Given the description of an element on the screen output the (x, y) to click on. 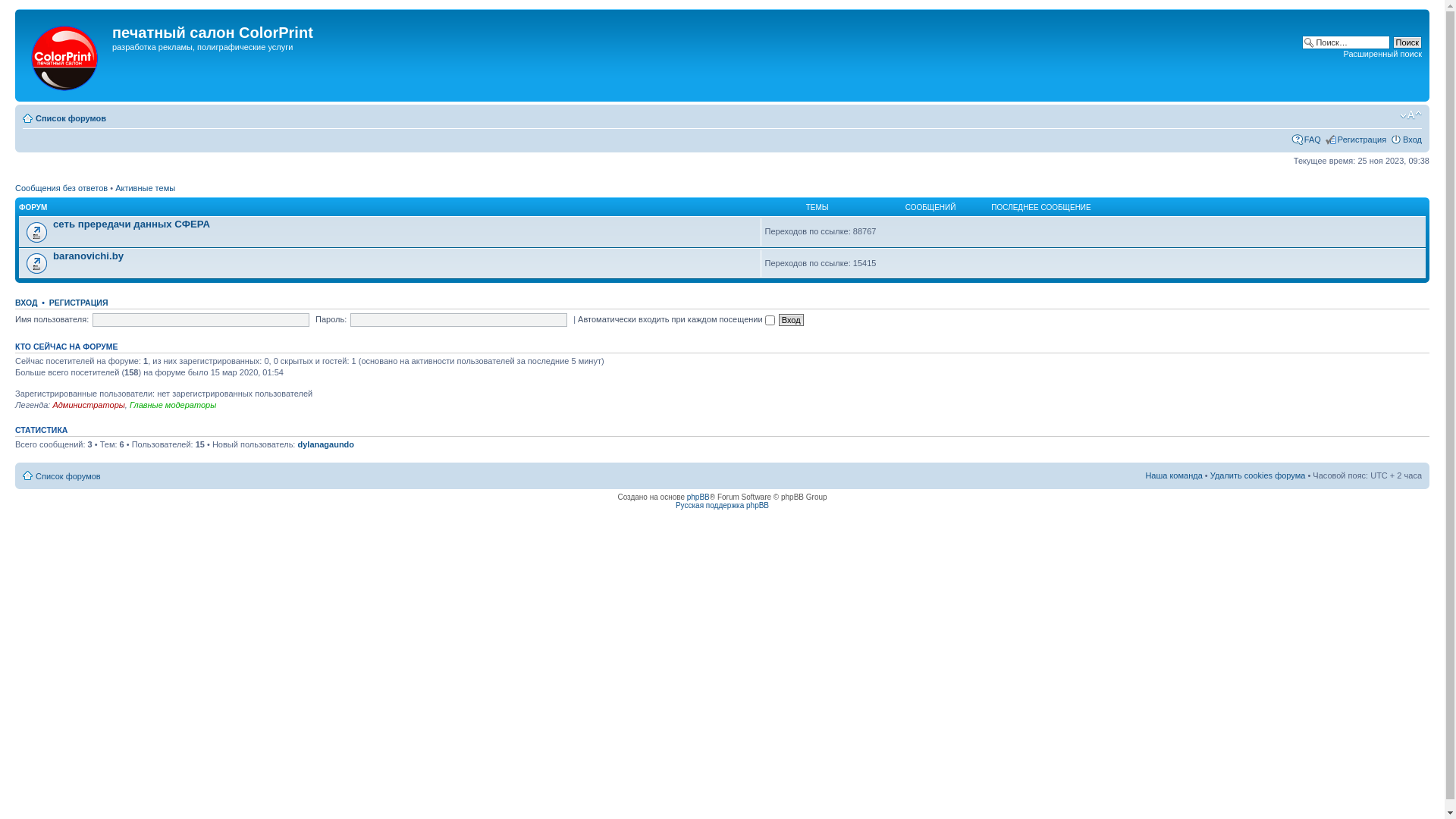
phpBB Element type: text (698, 496)
dylanagaundo Element type: text (325, 443)
FAQ Element type: text (1312, 139)
baranovichi.by Element type: text (88, 255)
